Given the description of an element on the screen output the (x, y) to click on. 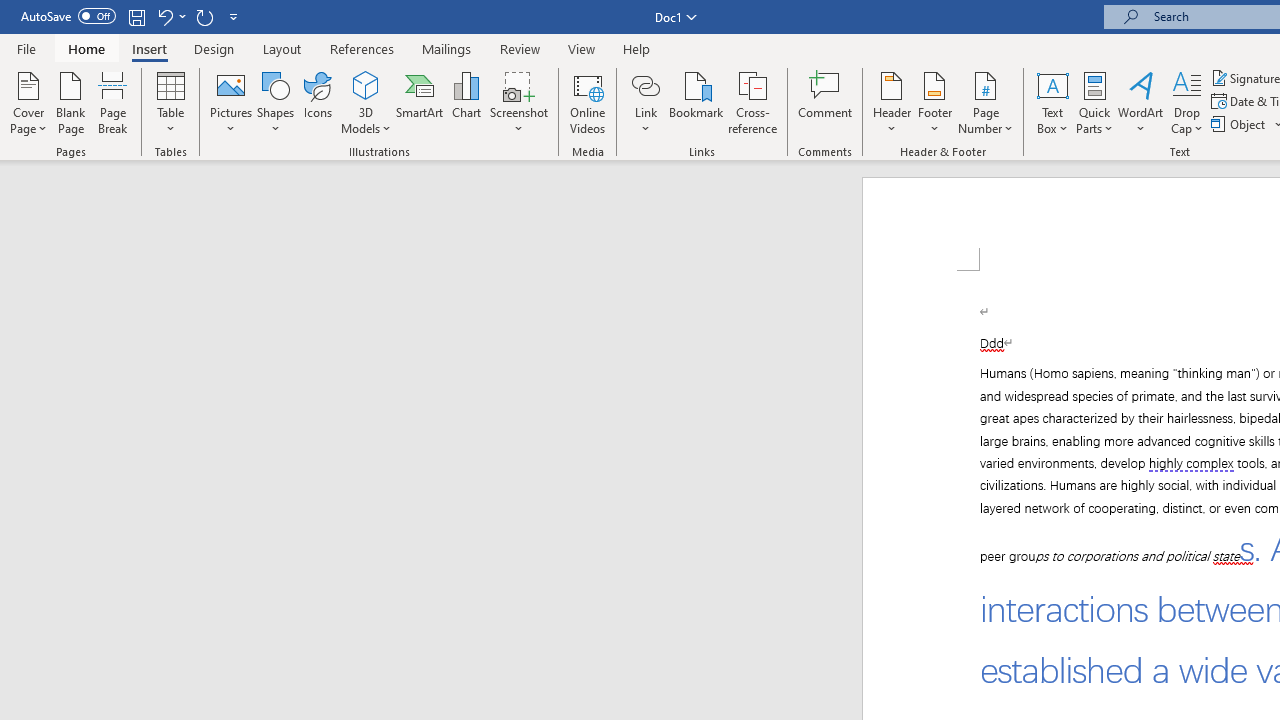
Page Break (113, 102)
Undo Apply Quick Style Set (164, 15)
Screenshot (518, 102)
Table (170, 102)
Footer (934, 102)
WordArt (1141, 102)
Blank Page (70, 102)
3D Models (366, 84)
Comment (825, 102)
